Given the description of an element on the screen output the (x, y) to click on. 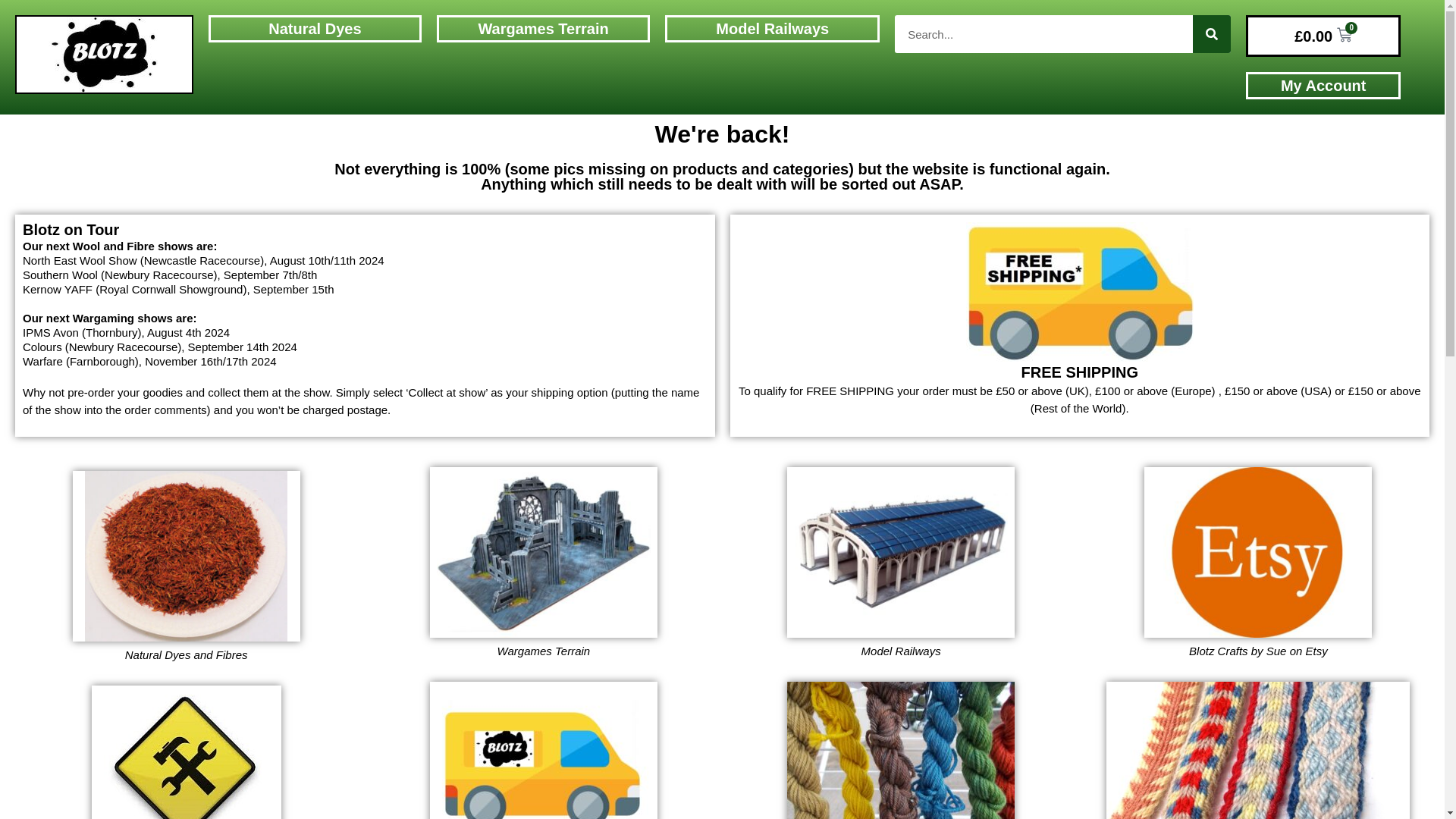
Model Railways (772, 28)
Natural Dyes (314, 28)
Wargames Terrain (542, 28)
My Account (1324, 85)
